Given the description of an element on the screen output the (x, y) to click on. 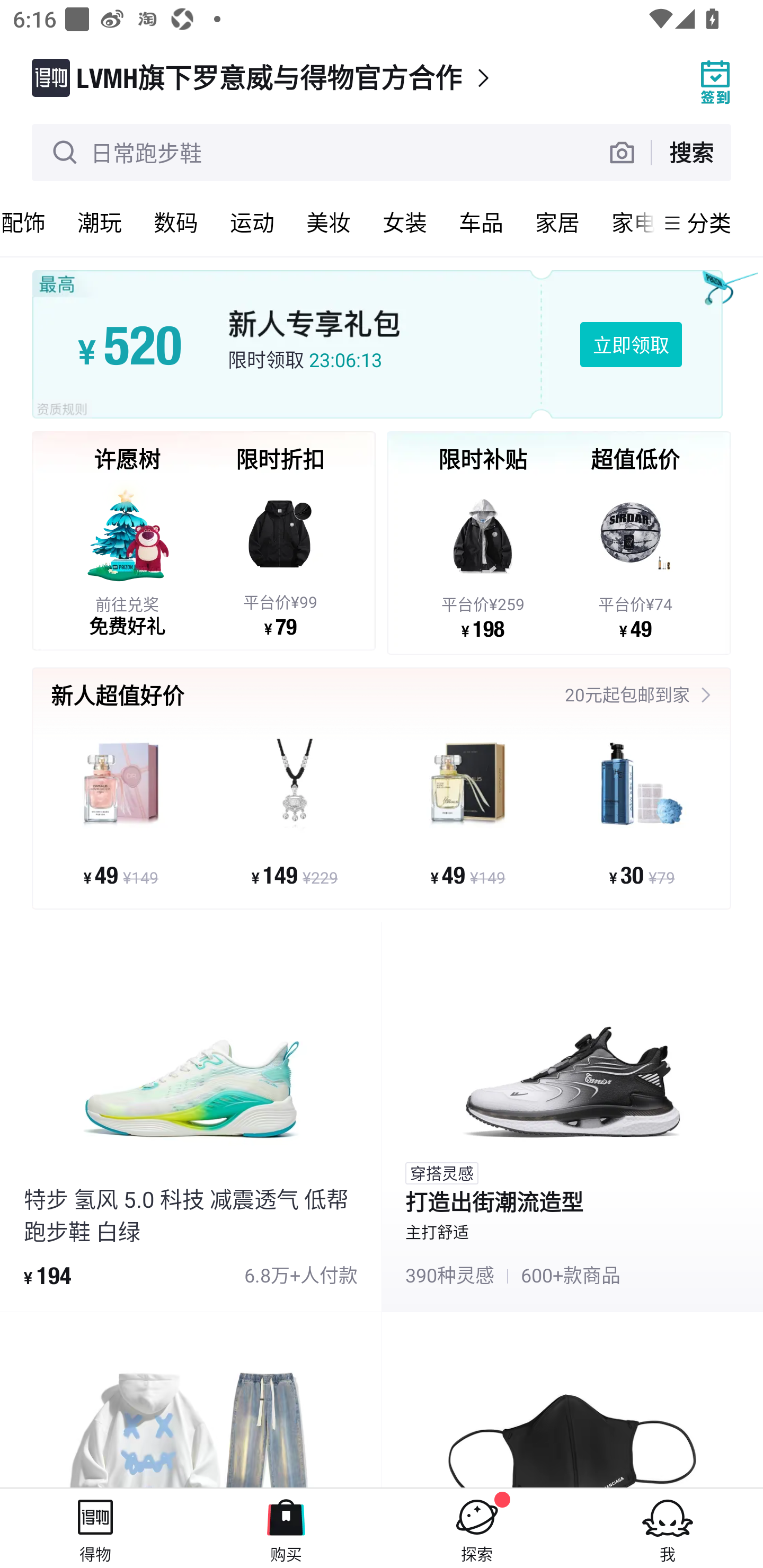
搜索 (690, 152)
配饰 (30, 222)
潮玩 (99, 222)
数码 (176, 222)
运动 (252, 222)
美妆 (328, 222)
女装 (405, 222)
车品 (481, 222)
家居 (557, 222)
家电 (624, 222)
分类 (708, 222)
立即领取 (630, 343)
平台价¥99 ¥ 79 (279, 557)
前往兑奖 免费好礼 (127, 558)
平台价¥259 ¥ 198 (482, 559)
平台价¥74 ¥ 49 (635, 559)
¥ 49 ¥149 (121, 811)
¥ 149 ¥229 (294, 811)
¥ 49 ¥149 (468, 811)
¥ 30 ¥79 (641, 811)
穿搭灵感 打造出街潮流造型 主打舒适 390种灵感 # 600+款商品 (572, 1115)
product_item (190, 1400)
product_item (572, 1400)
得物 (95, 1528)
购买 (285, 1528)
探索 (476, 1528)
我 (667, 1528)
